Given the description of an element on the screen output the (x, y) to click on. 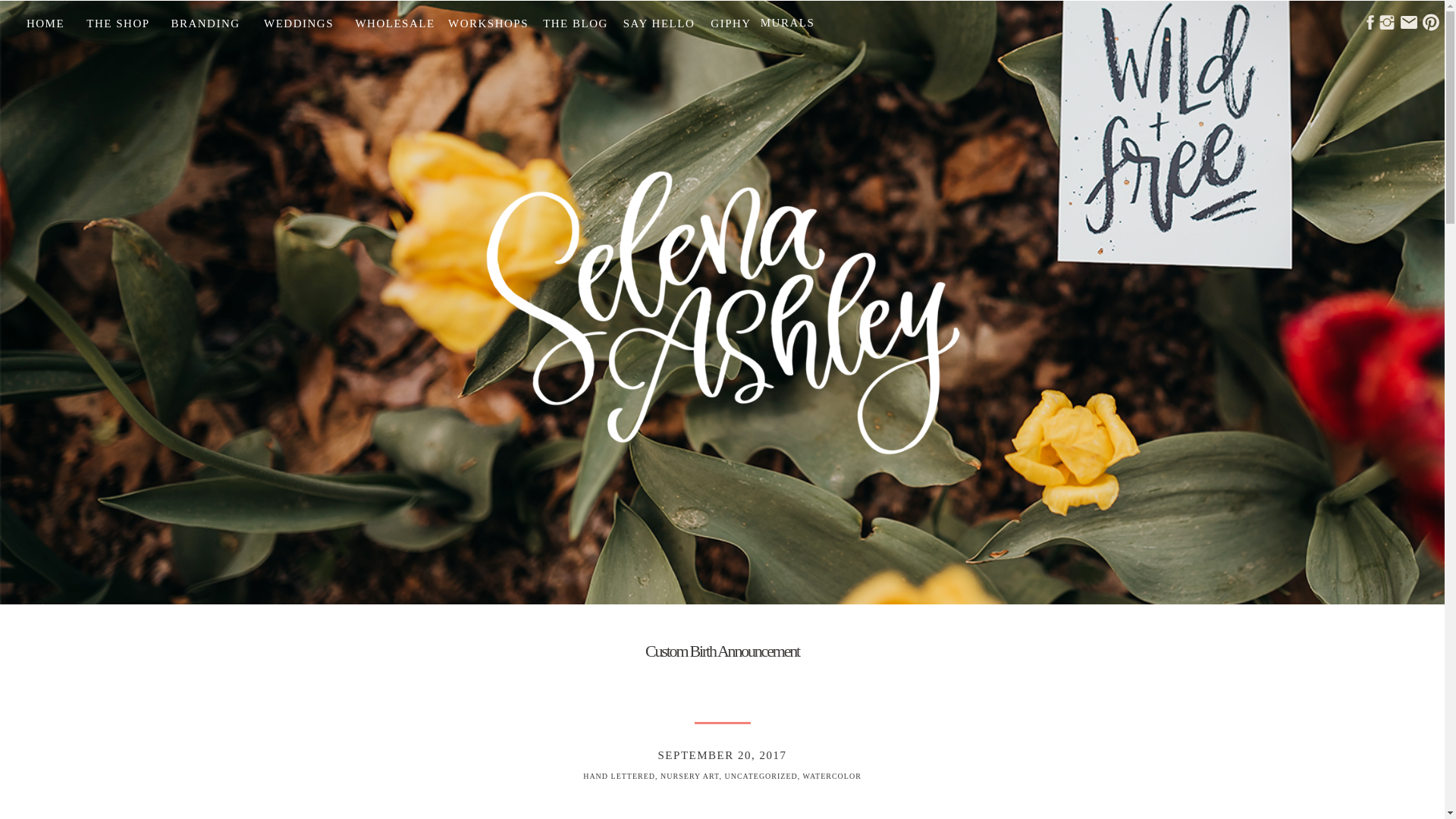
NURSERY ART (690, 776)
UNCATEGORIZED (759, 776)
WHOLESALE (394, 24)
WATERCOLOR (832, 776)
HOME (46, 19)
THE BLOG (575, 19)
GIPHY (730, 19)
WORKSHOPS (488, 19)
WEDDINGS (298, 24)
BRANDING (204, 22)
HAND LETTERED (619, 776)
SAY HELLO (658, 19)
THE SHOP (118, 24)
MURALS (787, 24)
